Given the description of an element on the screen output the (x, y) to click on. 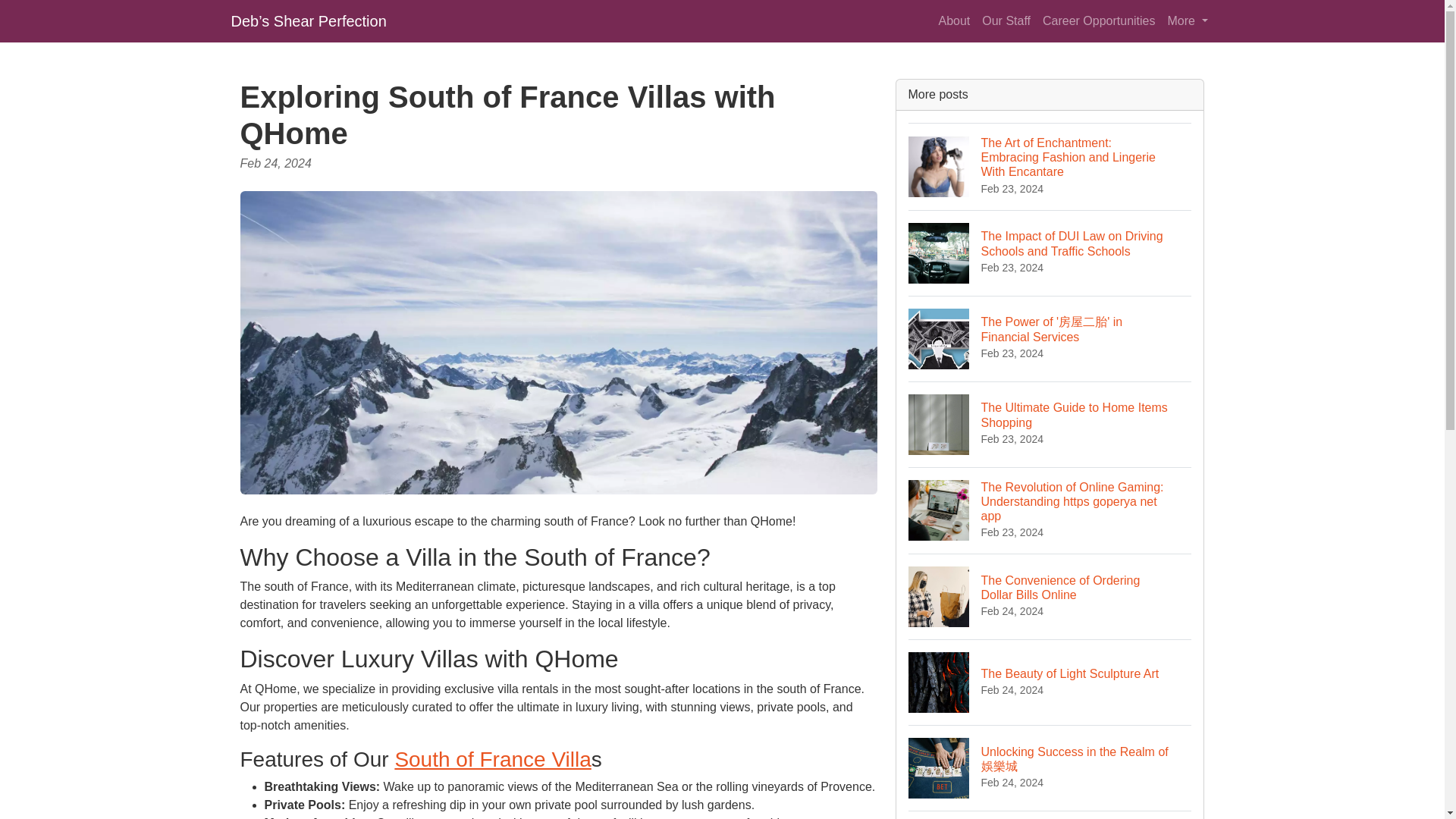
More (1187, 20)
About (1050, 596)
Our Staff (953, 20)
Career Opportunities (1050, 681)
South of France Villa (1050, 423)
